Given the description of an element on the screen output the (x, y) to click on. 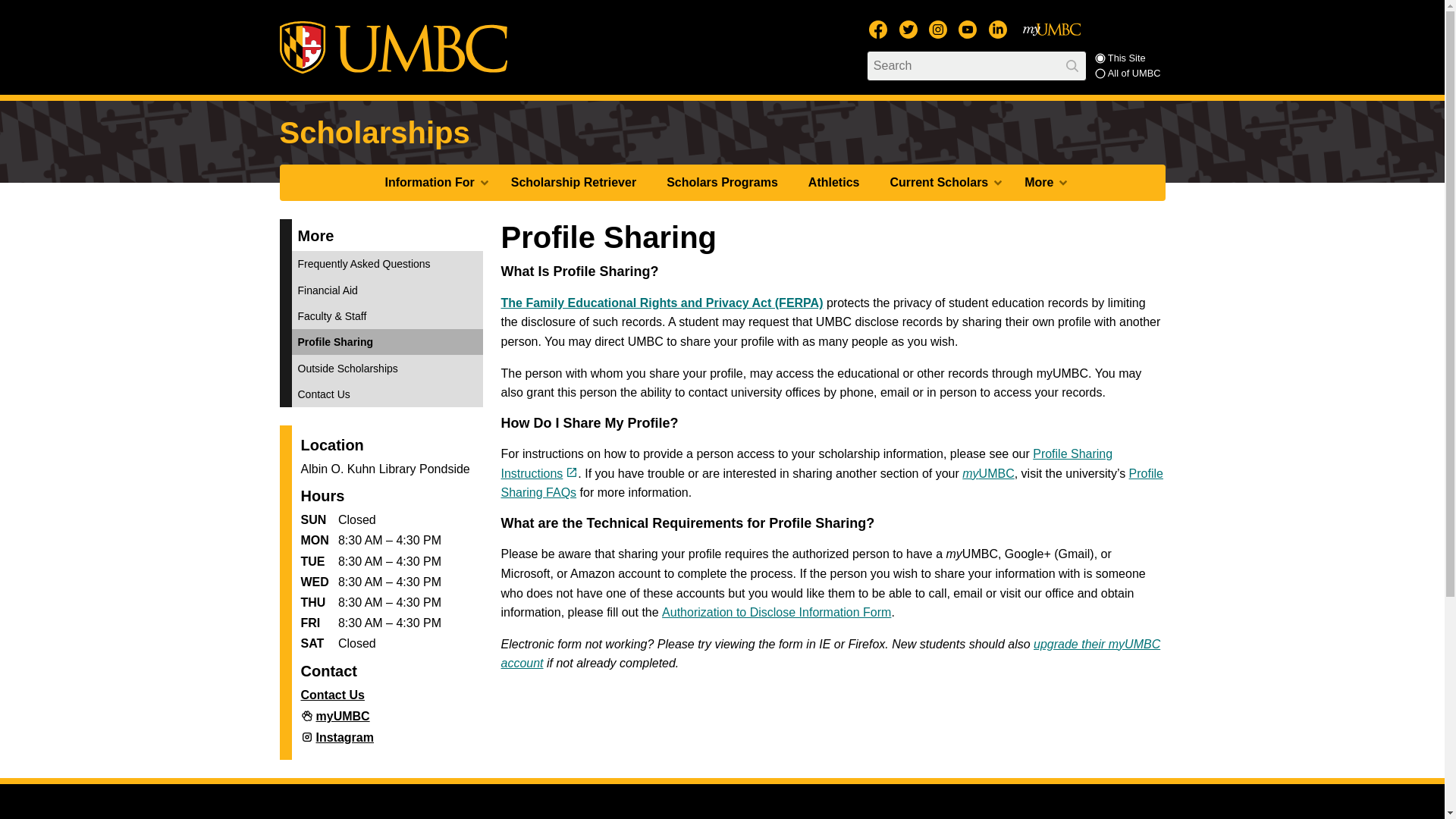
Current Scholars (942, 182)
More (1041, 182)
Scholarship Retriever (573, 182)
Toggle submenu for More (1063, 183)
Scholars Programs (721, 182)
Athletics (834, 182)
Toggle submenu for Information For (483, 183)
Information For (432, 182)
Scholarships (374, 132)
Toggle submenu for Current Scholars (997, 183)
